Given the description of an element on the screen output the (x, y) to click on. 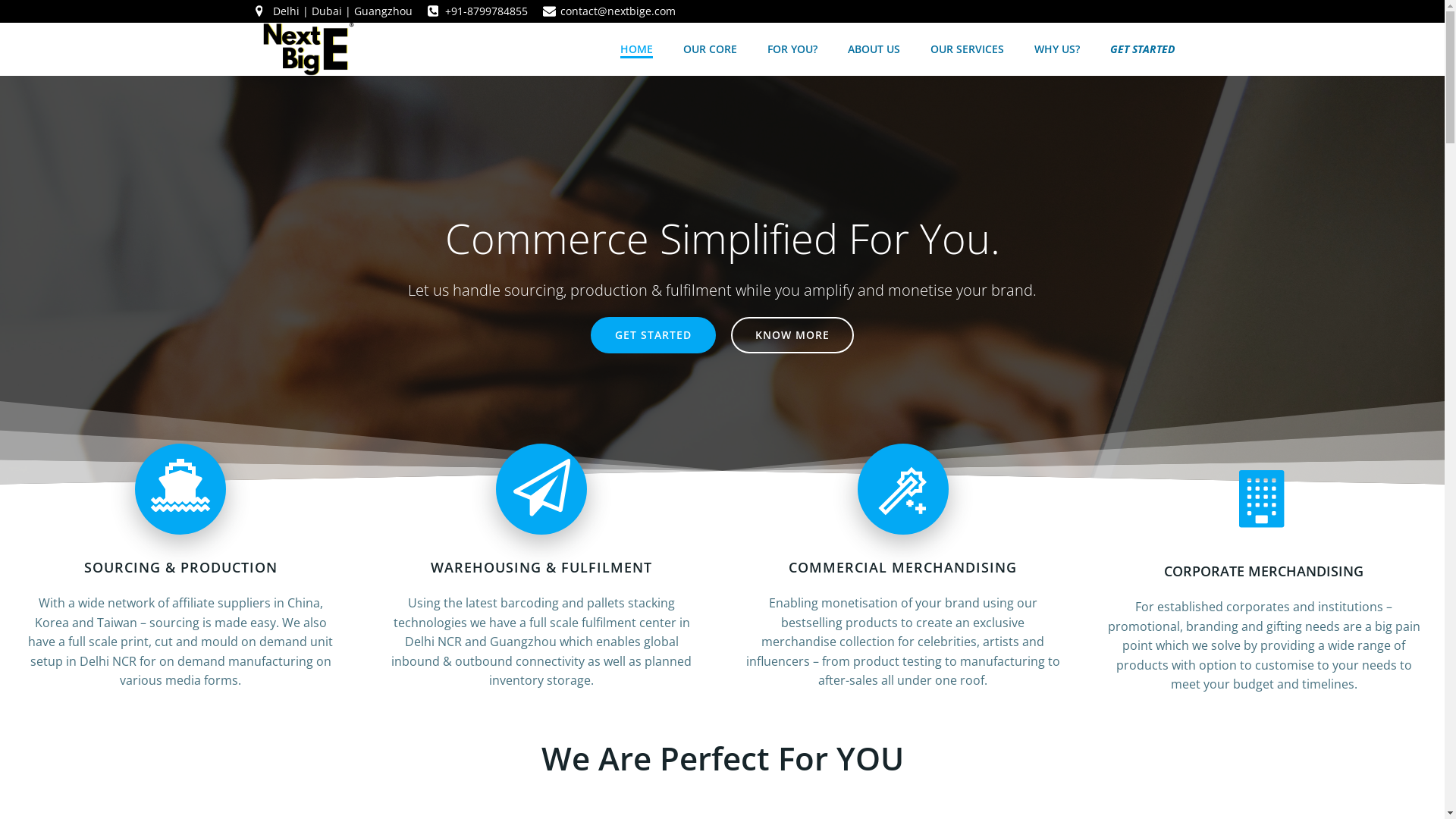
GET STARTED Element type: text (652, 334)
GET STARTED Element type: text (1142, 48)
ABOUT US Element type: text (873, 48)
KNOW MORE Element type: text (792, 334)
FOR YOU? Element type: text (792, 48)
WHY US? Element type: text (1056, 48)
Colibri Element type: text (884, 773)
OUR CORE Element type: text (709, 48)
OUR SERVICES Element type: text (966, 48)
HOME Element type: text (636, 48)
